Given the description of an element on the screen output the (x, y) to click on. 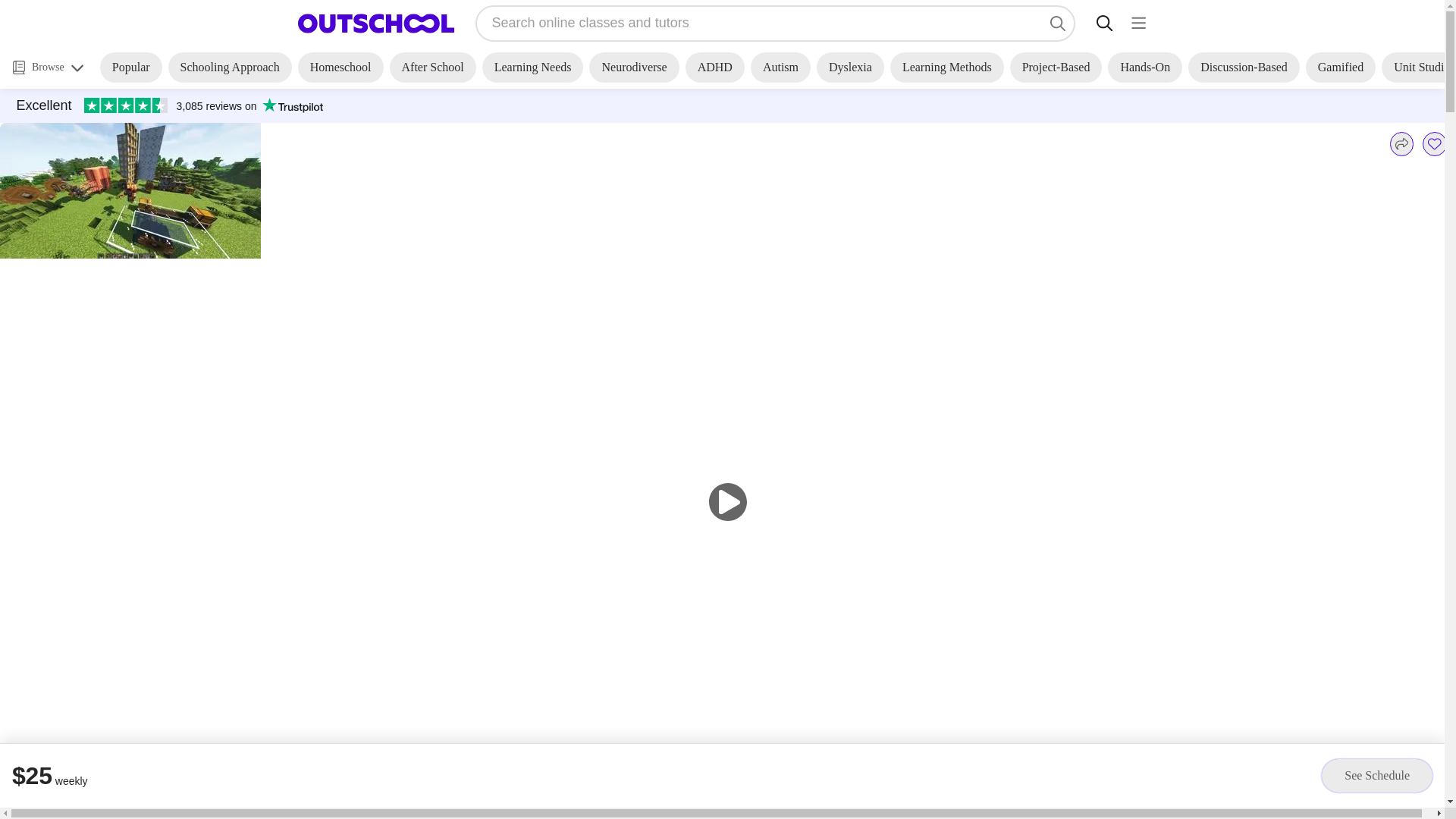
Autism (780, 67)
Learning Needs (532, 67)
ADHD (714, 67)
Dyslexia (849, 67)
Hands-On (1145, 67)
Browse (48, 66)
Discussion-Based (1244, 67)
Homeschool (341, 67)
Neurodiverse (633, 67)
Popular (130, 67)
Learning Methods (946, 67)
Project-Based (1056, 67)
After School (433, 67)
Schooling Approach (230, 67)
Gamified (1340, 67)
